Given the description of an element on the screen output the (x, y) to click on. 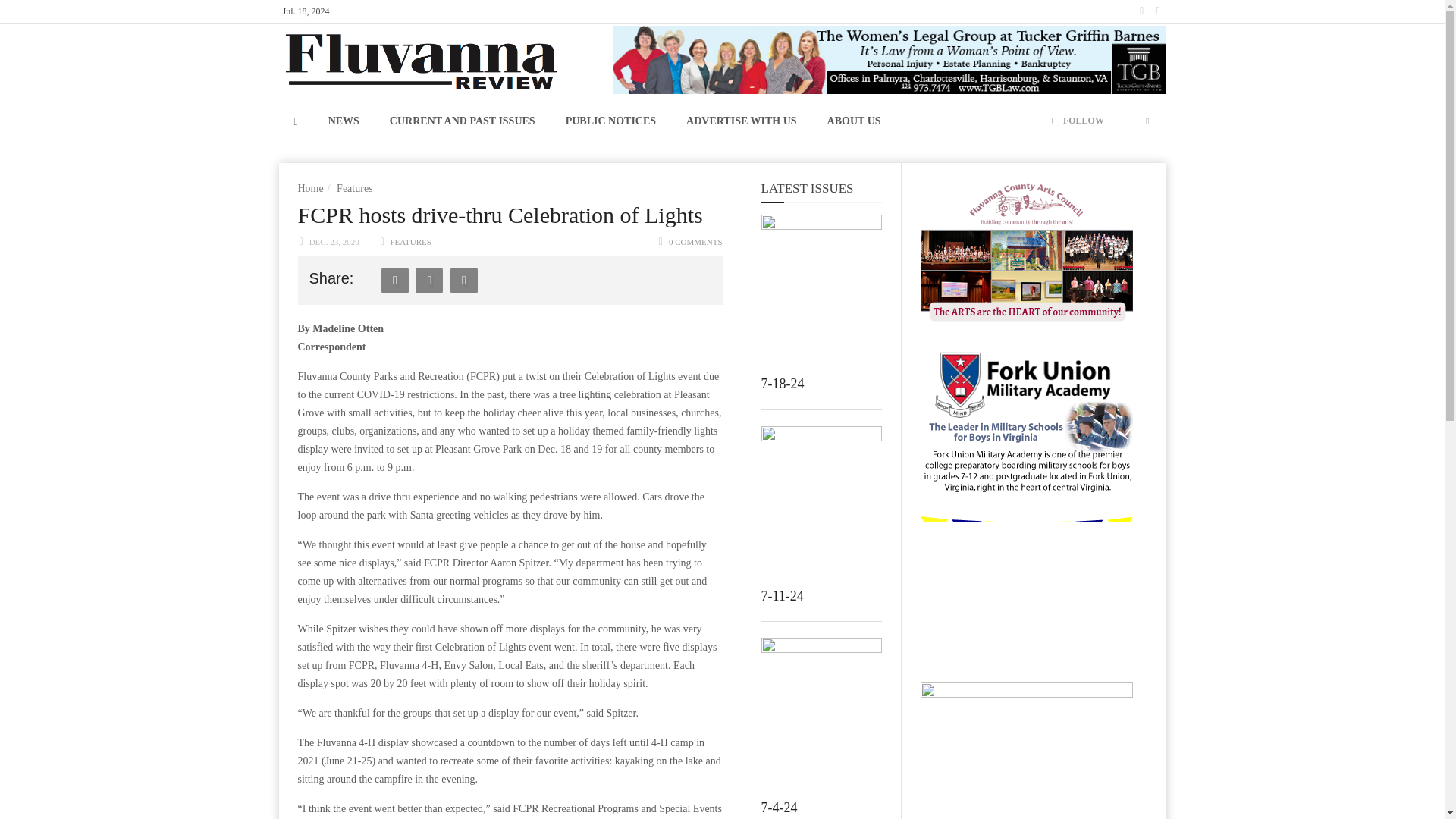
NEWS (343, 120)
Features (354, 188)
View all posts in Features (410, 241)
